Given the description of an element on the screen output the (x, y) to click on. 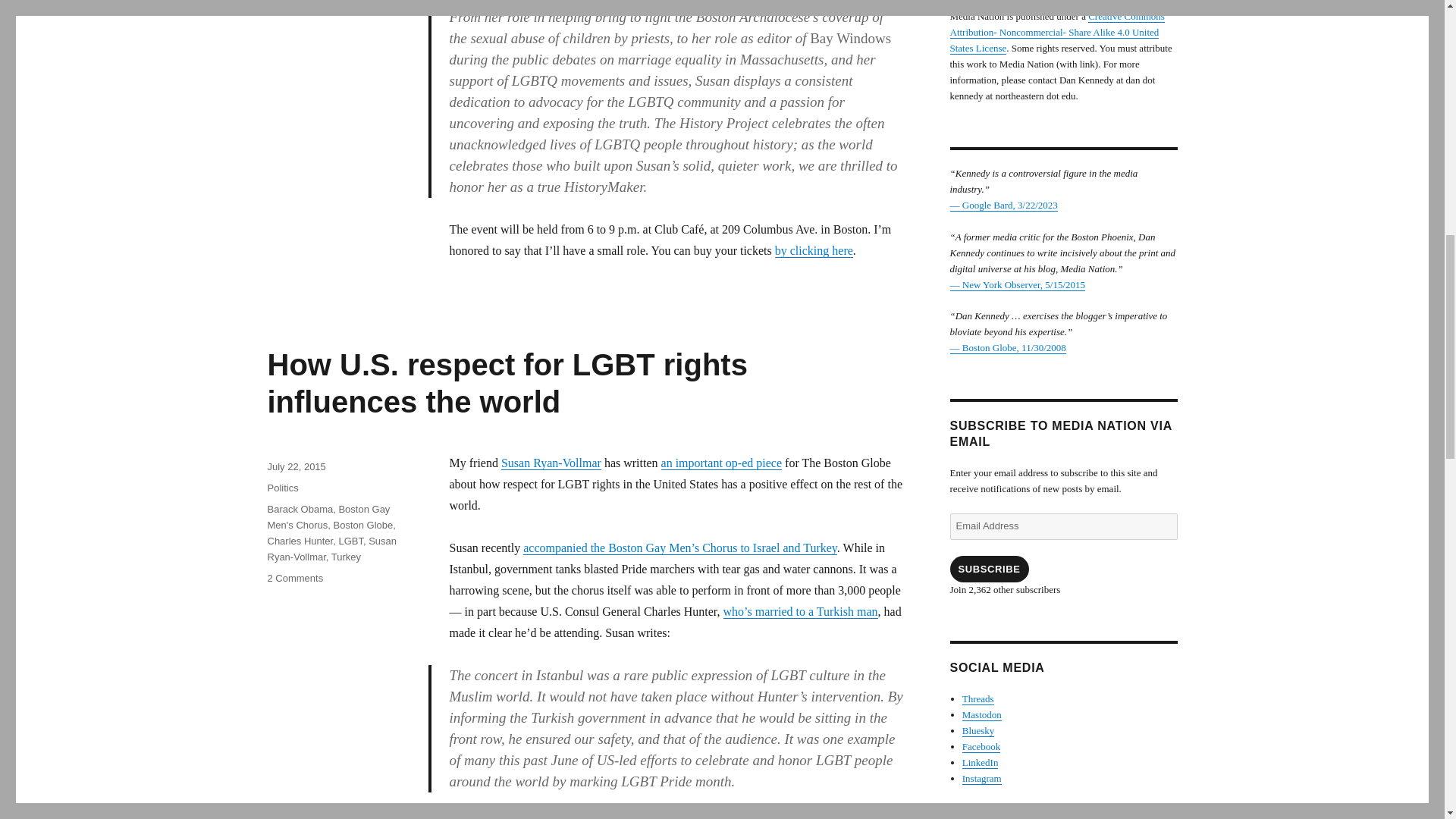
an important op-ed piece (722, 462)
Susan Ryan-Vollmar (550, 462)
Boston Gay Men's Chorus (328, 516)
Boston Globe (363, 524)
Barack Obama (299, 509)
by clicking here (813, 250)
How U.S. respect for LGBT rights influences the world (506, 383)
July 22, 2015 (295, 466)
Politics (282, 487)
